Given the description of an element on the screen output the (x, y) to click on. 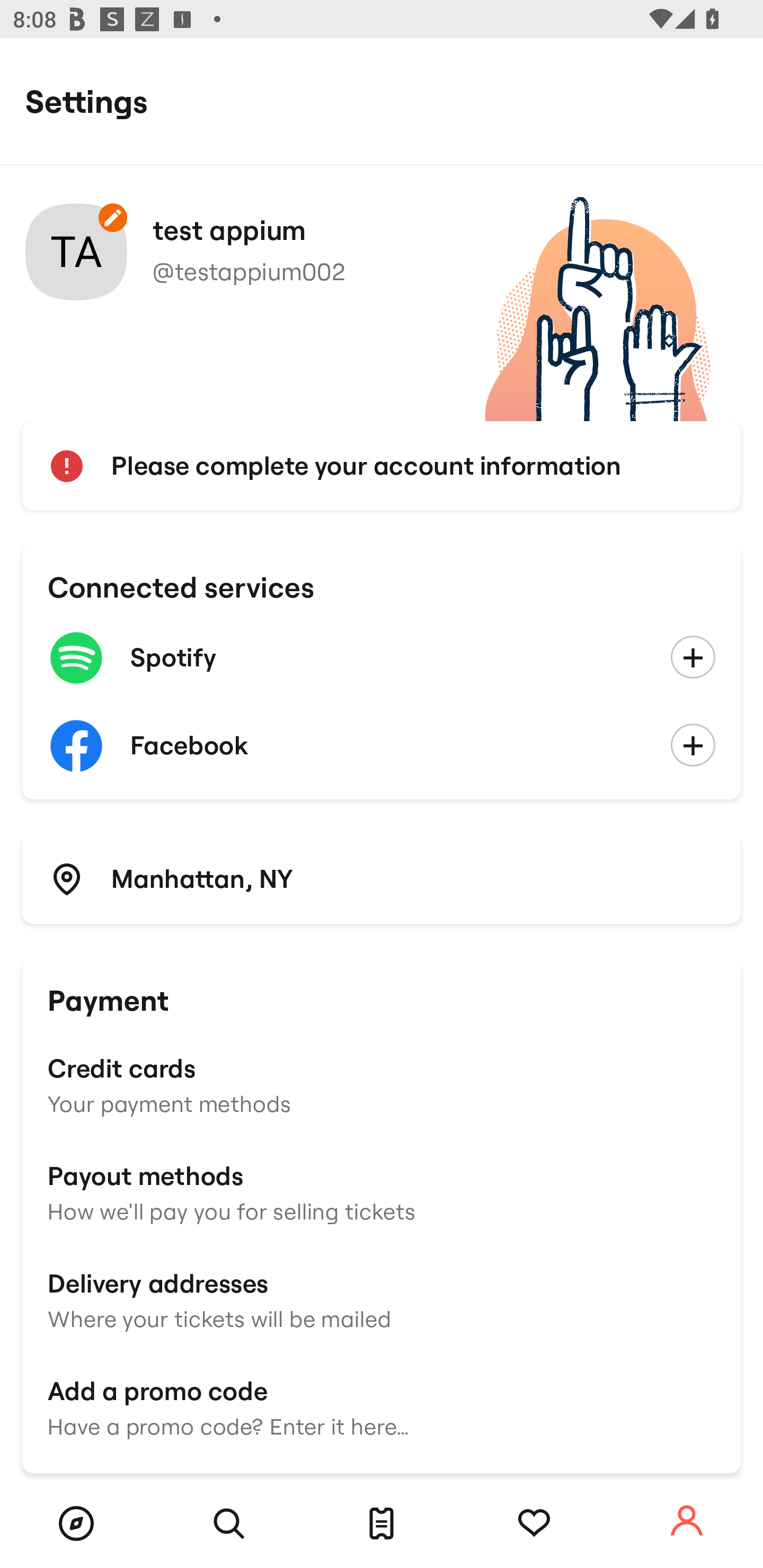
Your account photo (76, 252)
Please complete your account information (381, 466)
Spotify (381, 658)
Facebook (381, 746)
Manhattan, NY (381, 878)
Credit cards Your payment methods (381, 1084)
Add a promo code Have a promo code? Enter it here… (381, 1406)
Browse (76, 1523)
Search (228, 1523)
Tickets (381, 1523)
Tracking (533, 1523)
Account (686, 1521)
